Given the description of an element on the screen output the (x, y) to click on. 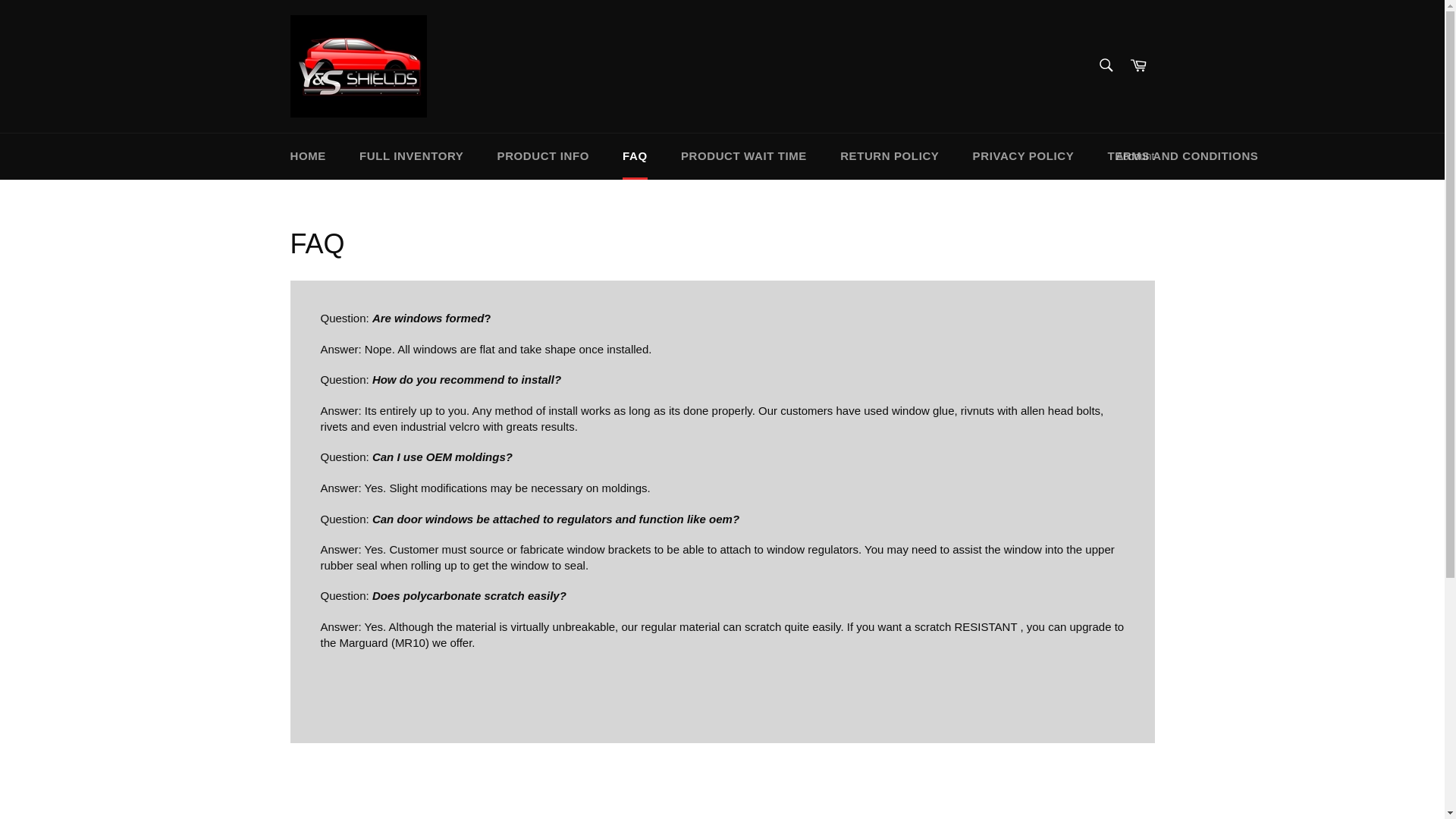
Account (1134, 156)
FAQ (634, 156)
RETURN POLICY (889, 156)
FULL INVENTORY (411, 156)
Cart (1138, 66)
TERMS AND CONDITIONS (1182, 156)
HOME (307, 156)
Search (1104, 65)
PRIVACY POLICY (1023, 156)
PRODUCT INFO (542, 156)
